Given the description of an element on the screen output the (x, y) to click on. 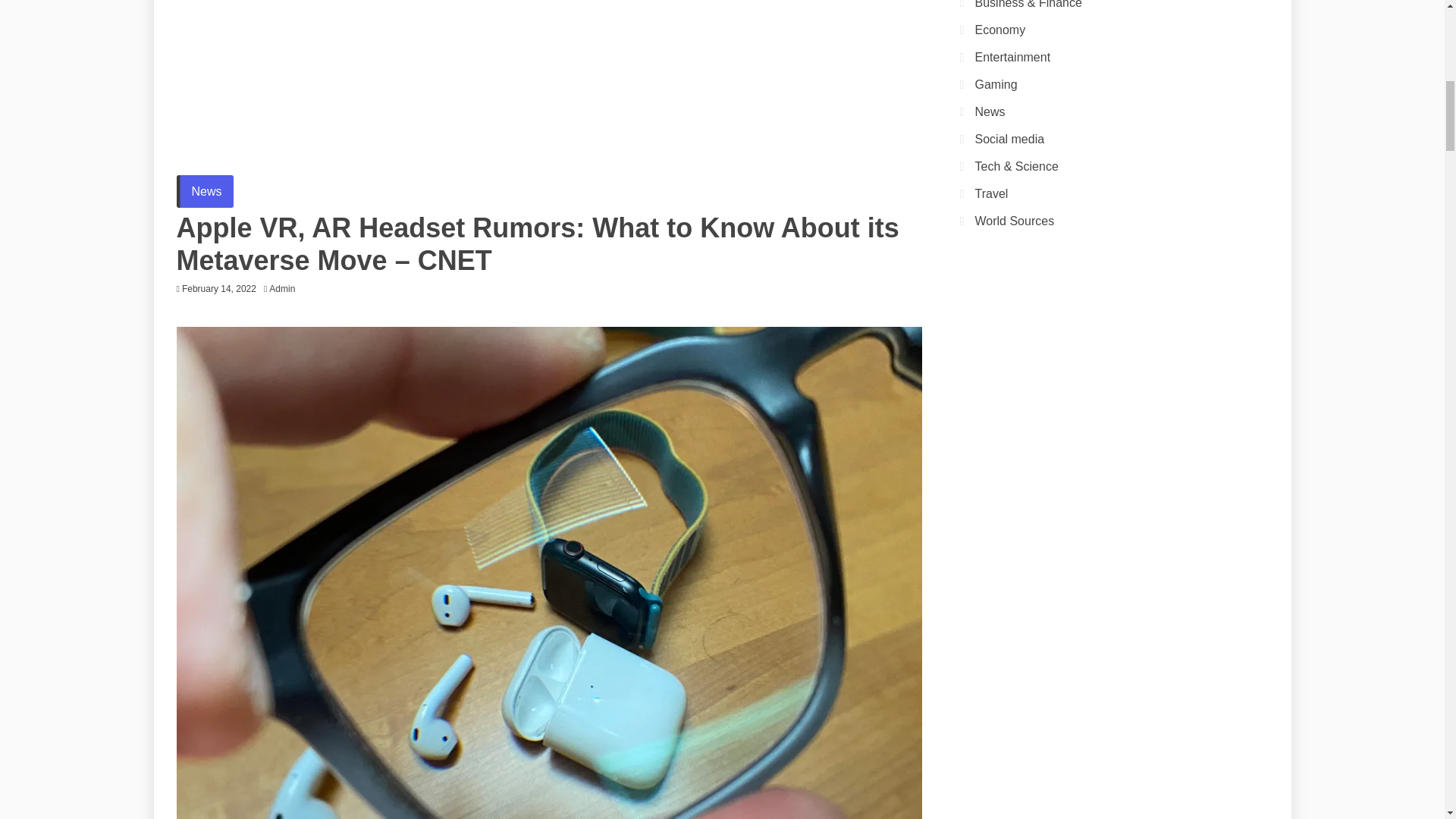
Admin (285, 288)
February 14, 2022 (219, 288)
News (204, 191)
